Given the description of an element on the screen output the (x, y) to click on. 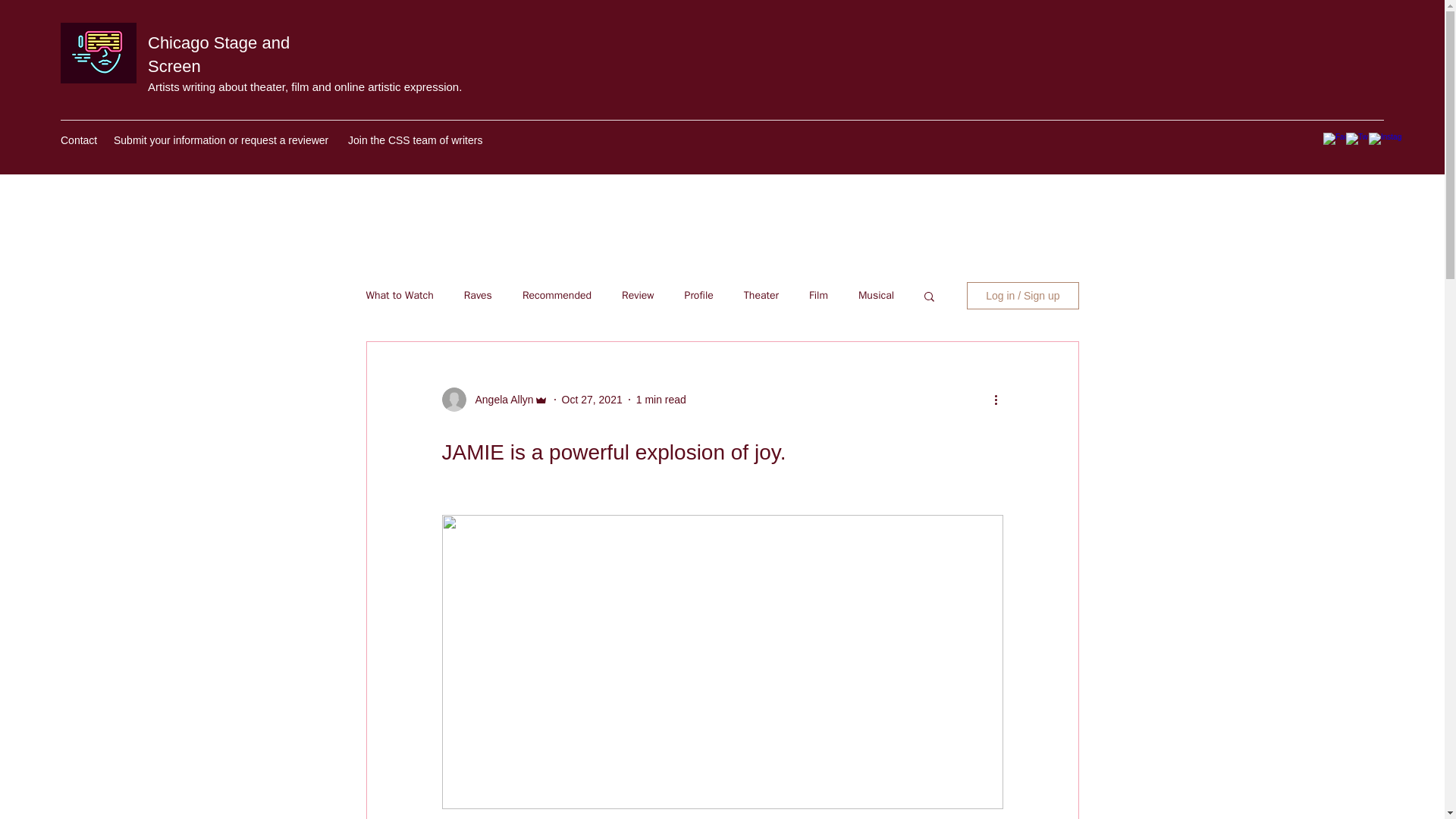
1 min read (660, 399)
Chicago Stage and Screen (218, 54)
What to Watch (398, 295)
Review (637, 295)
Join the CSS team of writers (416, 139)
Theater (761, 295)
Contact (79, 139)
Profile (698, 295)
Angela Allyn (498, 399)
Submit your information or request a reviewer (223, 139)
